Given the description of an element on the screen output the (x, y) to click on. 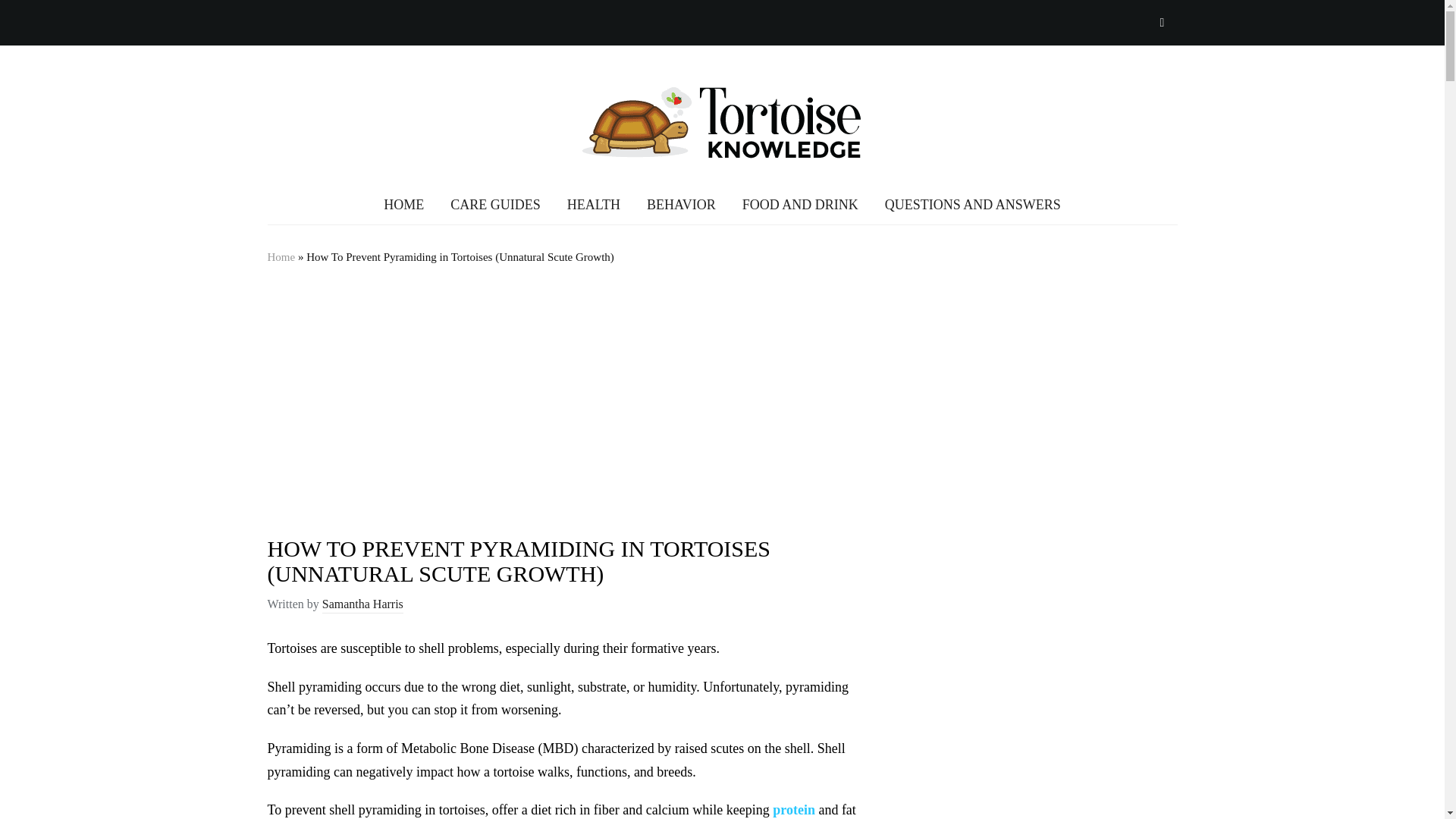
HOME (403, 205)
FOOD AND DRINK (800, 205)
protein (794, 809)
Samantha Harris (362, 605)
BEHAVIOR (681, 205)
Home (280, 256)
Posts by Samantha Harris (362, 605)
QUESTIONS AND ANSWERS (973, 205)
HEALTH (593, 205)
CARE GUIDES (494, 205)
